Given the description of an element on the screen output the (x, y) to click on. 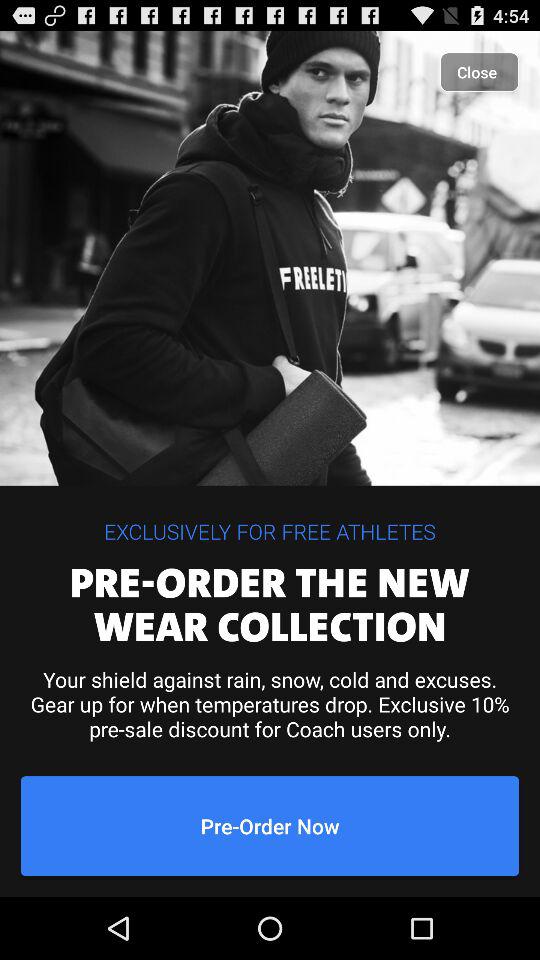
tap your shield against icon (270, 704)
